Given the description of an element on the screen output the (x, y) to click on. 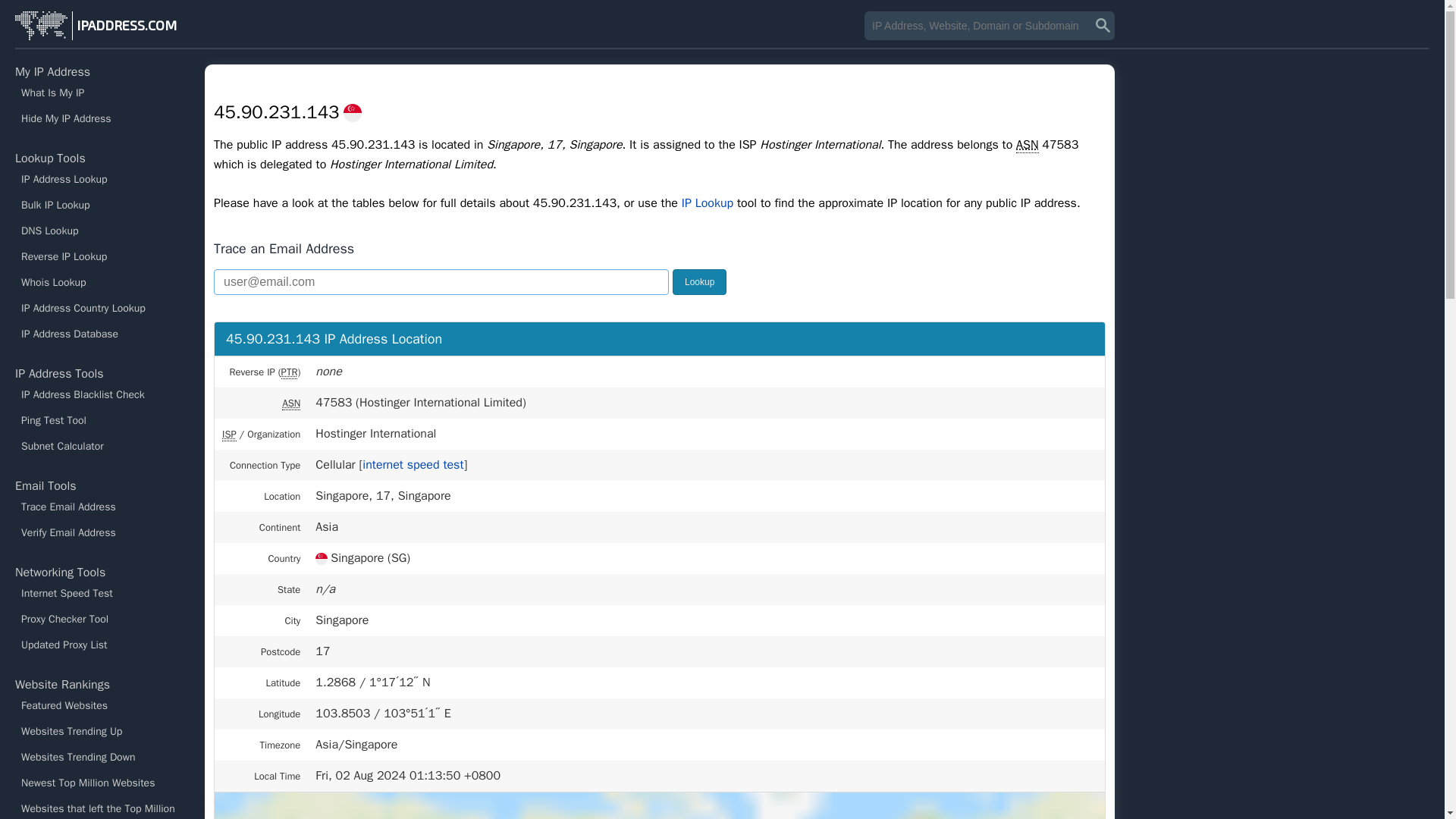
Internet Service Provider (228, 434)
Proxy Checker Tool (101, 619)
internet speed test (412, 464)
Whois Lookup (101, 282)
Hide My IP Address (101, 118)
Reverse IP Lookup (101, 257)
Featured Websites (101, 705)
DNS Lookup (101, 231)
Lookup Tools (49, 158)
Websites Trending Down (101, 757)
Websites Trending Up (101, 731)
IP Address Country Lookup (101, 308)
Ping Test Tool (101, 420)
What Is My IP (101, 93)
Lookup (699, 281)
